Given the description of an element on the screen output the (x, y) to click on. 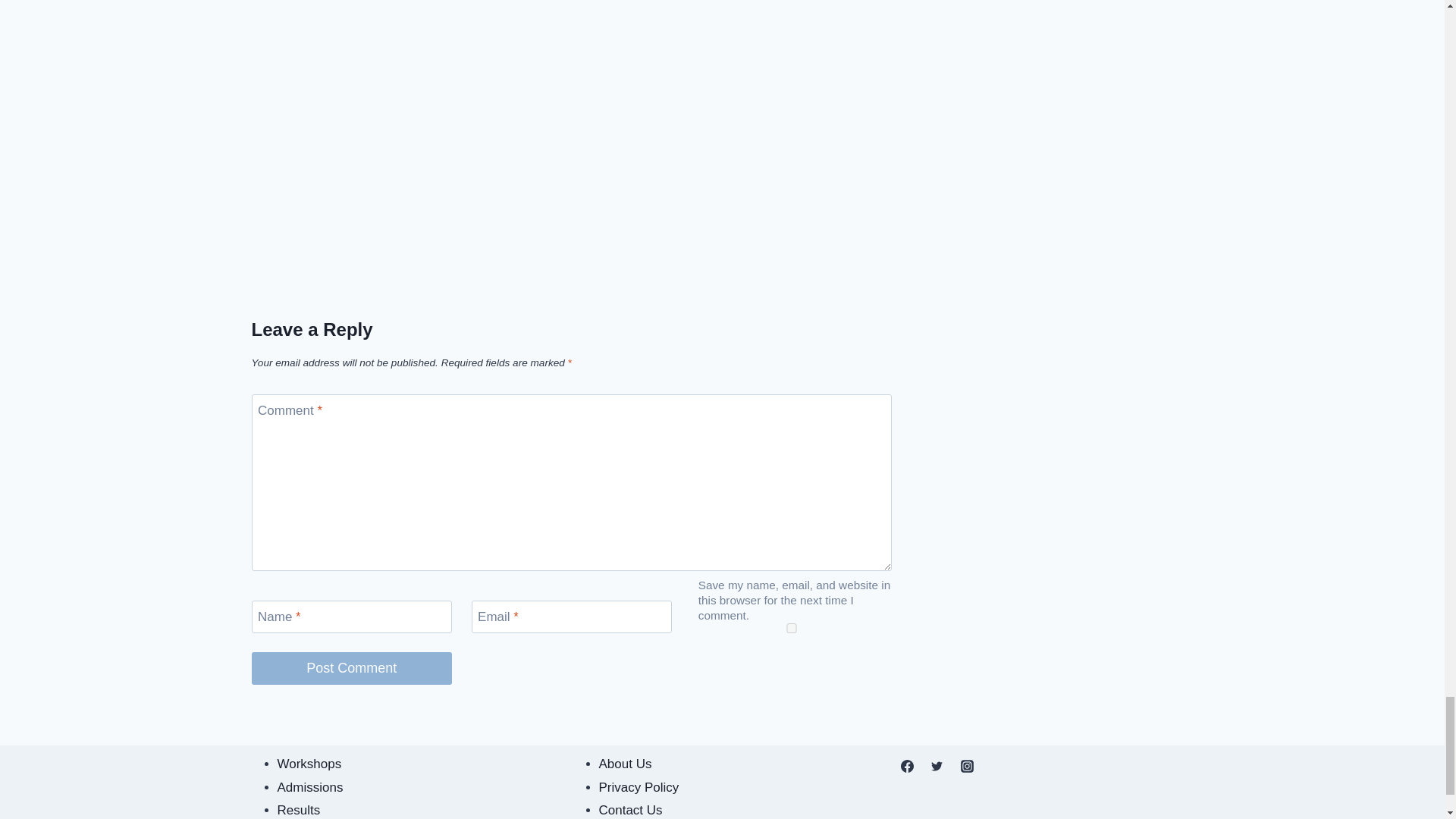
yes (791, 628)
Post Comment (351, 667)
